Given the description of an element on the screen output the (x, y) to click on. 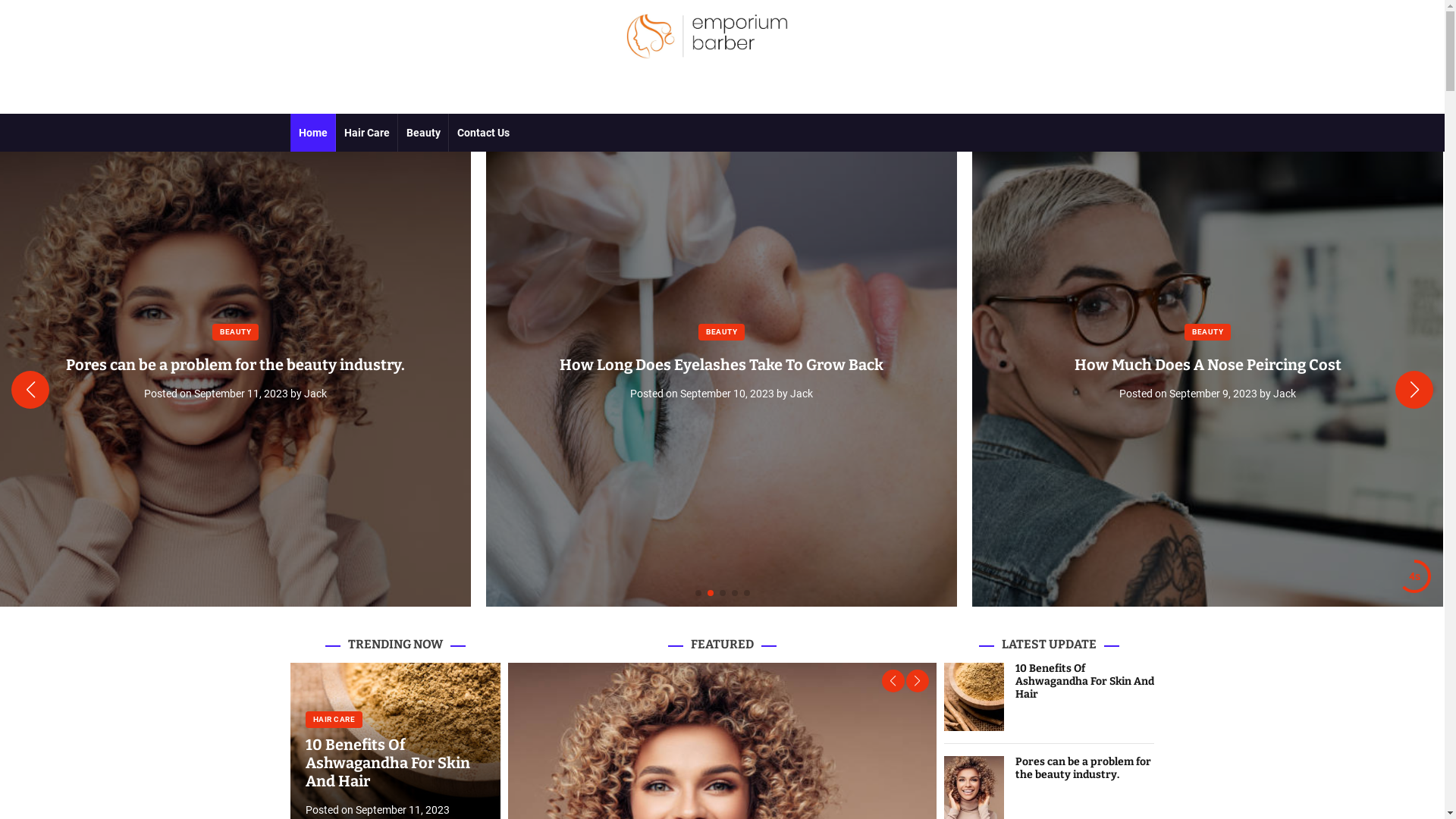
BEAUTY Element type: text (1207, 331)
Beauty Element type: text (422, 132)
September 10, 2023 Element type: text (727, 393)
How Much Does A Nose Peircing Cost Element type: text (1206, 364)
Pores can be a problem for the beauty industry. Element type: text (234, 364)
Jack Element type: text (315, 393)
Jack Element type: text (801, 393)
September 9, 2023 Element type: text (1213, 393)
How Long Does Eyelashes Take To Grow Back Element type: text (721, 364)
Home Element type: text (312, 132)
10 Benefits Of Ashwagandha For Skin And Hair Element type: text (1084, 681)
BEAUTY Element type: text (235, 331)
Contact Us Element type: text (482, 132)
Hair Care Element type: text (366, 132)
10 Benefits Of Ashwagandha For Skin And Hair Element type: text (386, 762)
September 11, 2023 Element type: text (401, 809)
Jack Element type: text (1284, 393)
September 11, 2023 Element type: text (241, 393)
EMPORIUM BARBER Element type: text (707, 83)
HAIR CARE Element type: text (333, 719)
BEAUTY Element type: text (721, 331)
Pores can be a problem for the beauty industry. Element type: text (1083, 768)
